Given the description of an element on the screen output the (x, y) to click on. 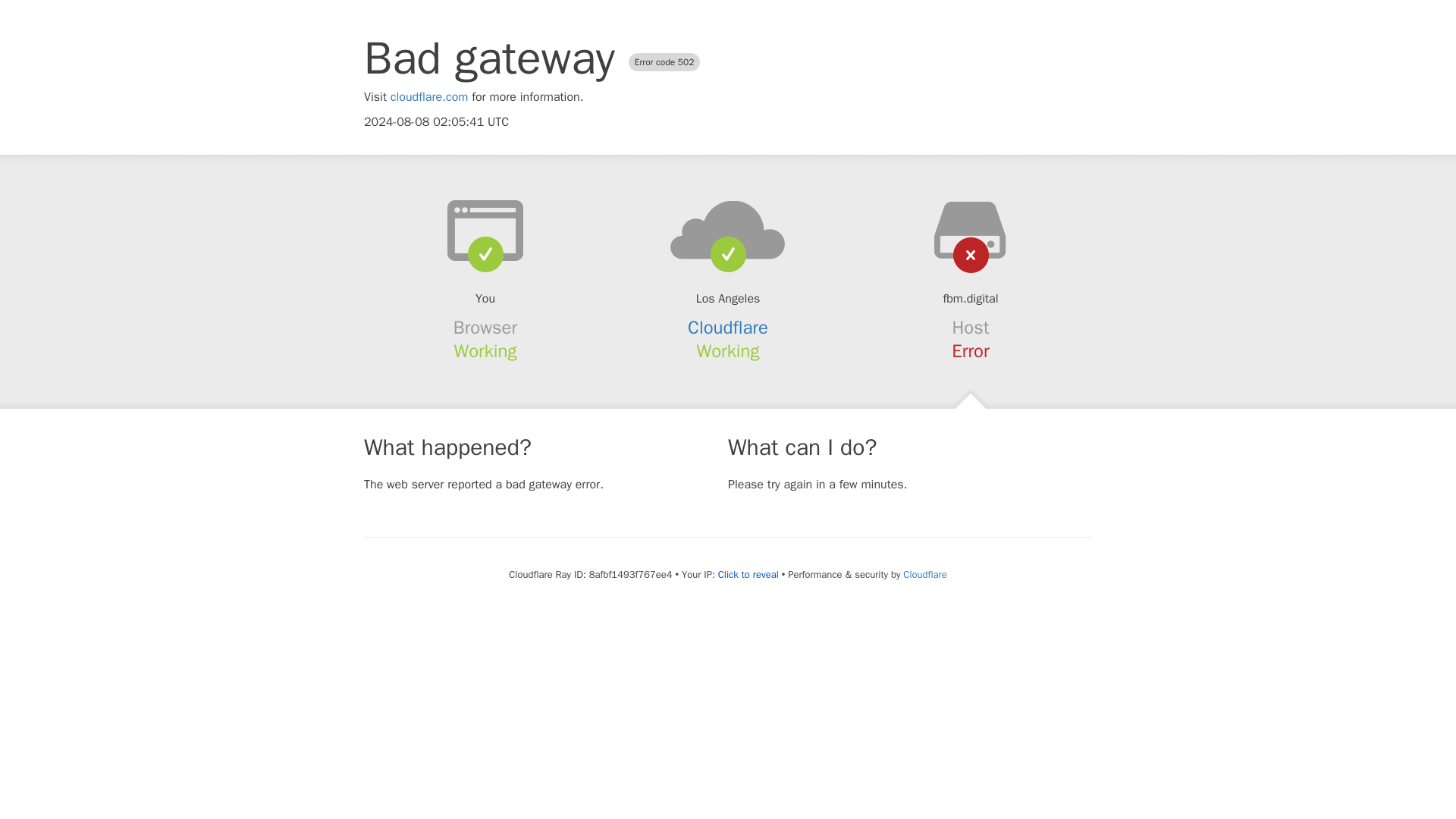
Cloudflare (924, 574)
cloudflare.com (429, 96)
Cloudflare (727, 327)
Click to reveal (747, 574)
